Given the description of an element on the screen output the (x, y) to click on. 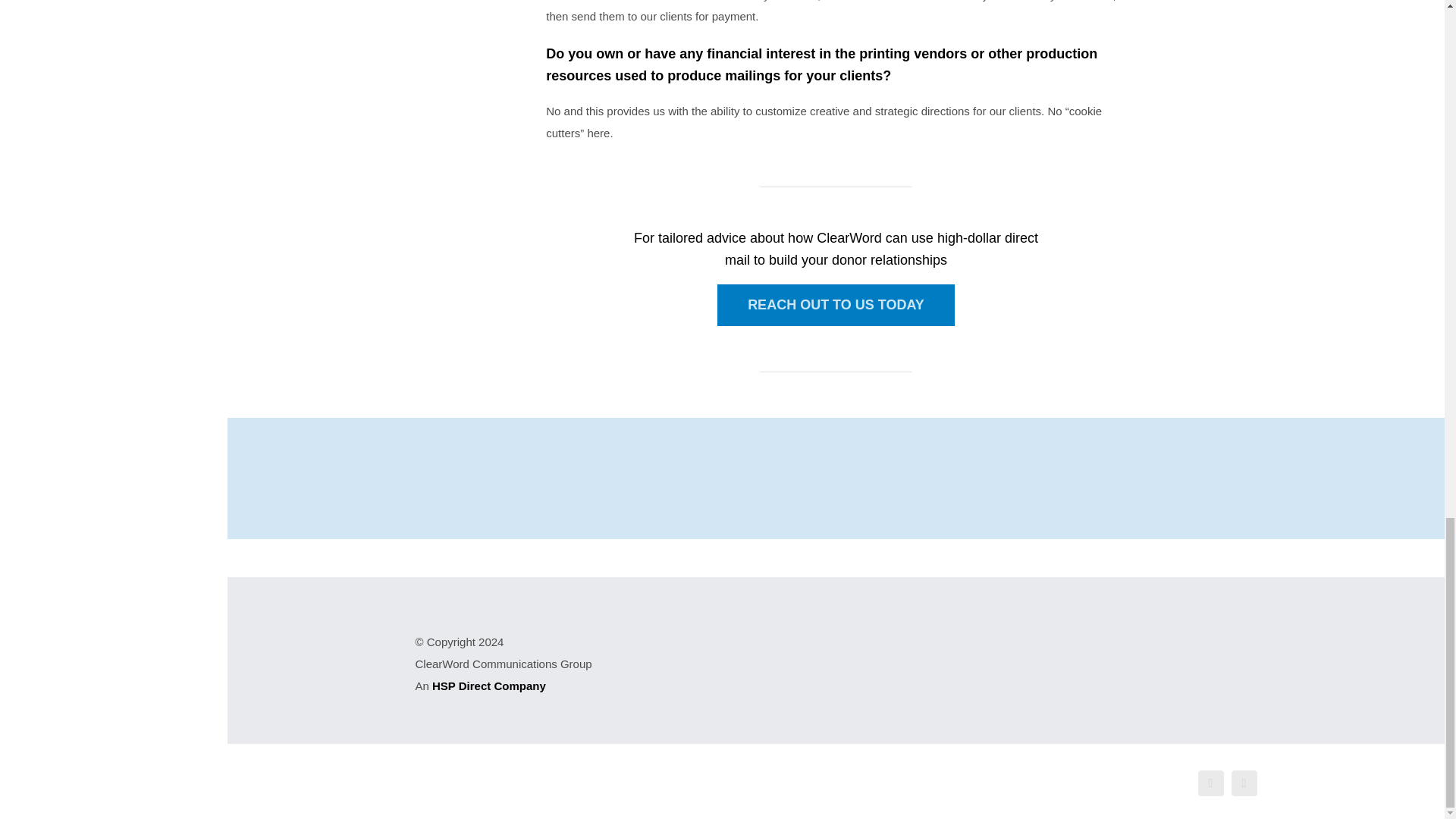
LinkedIn (1244, 783)
Facebook (1211, 783)
HSP Direct Company (489, 685)
Facebook (1211, 783)
LinkedIn (1244, 783)
REACH OUT TO US TODAY (836, 304)
